Given the description of an element on the screen output the (x, y) to click on. 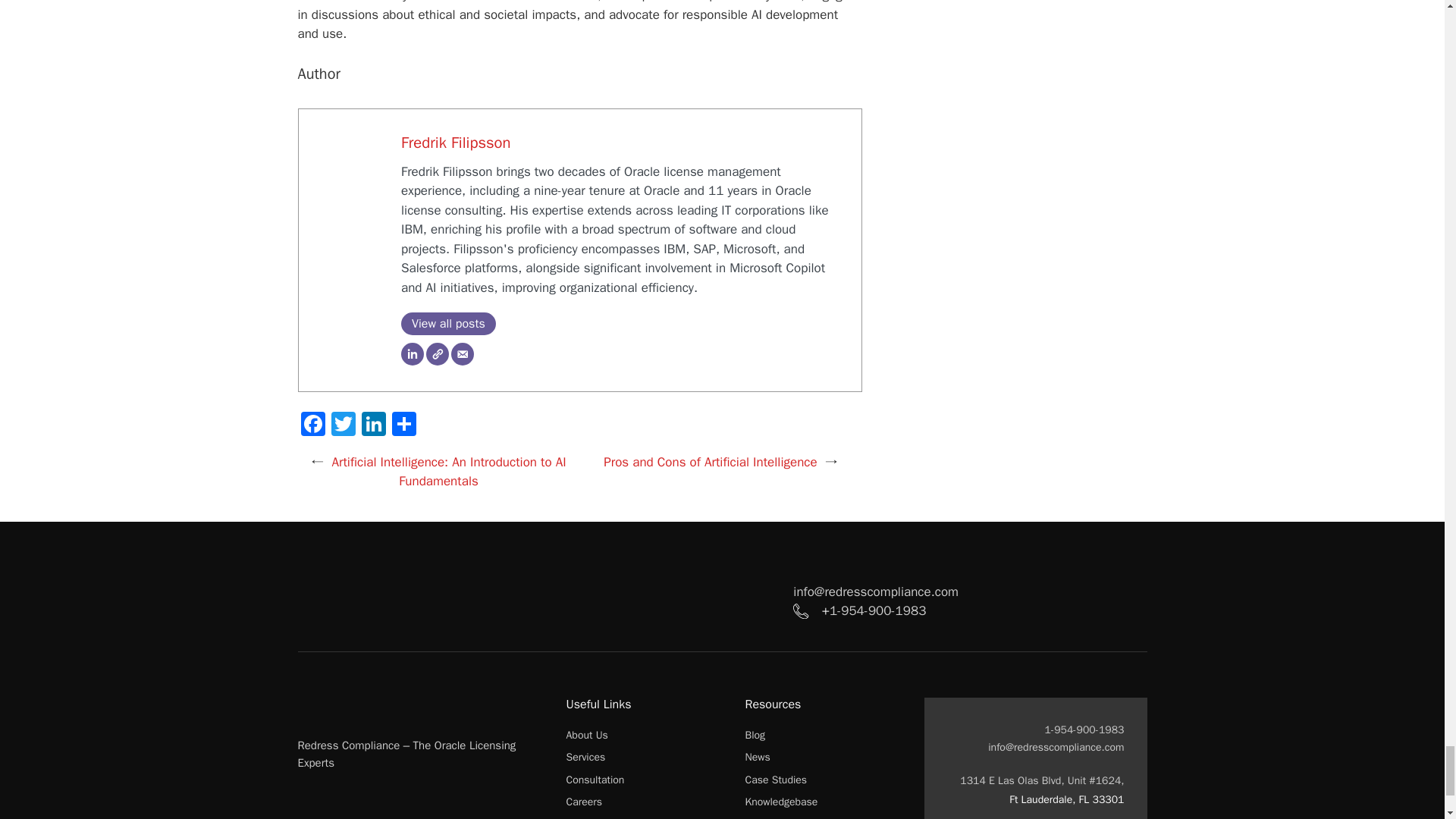
View all posts (448, 323)
Fredrik Filipsson (456, 142)
Facebook (312, 425)
Twitter (342, 425)
